Given the description of an element on the screen output the (x, y) to click on. 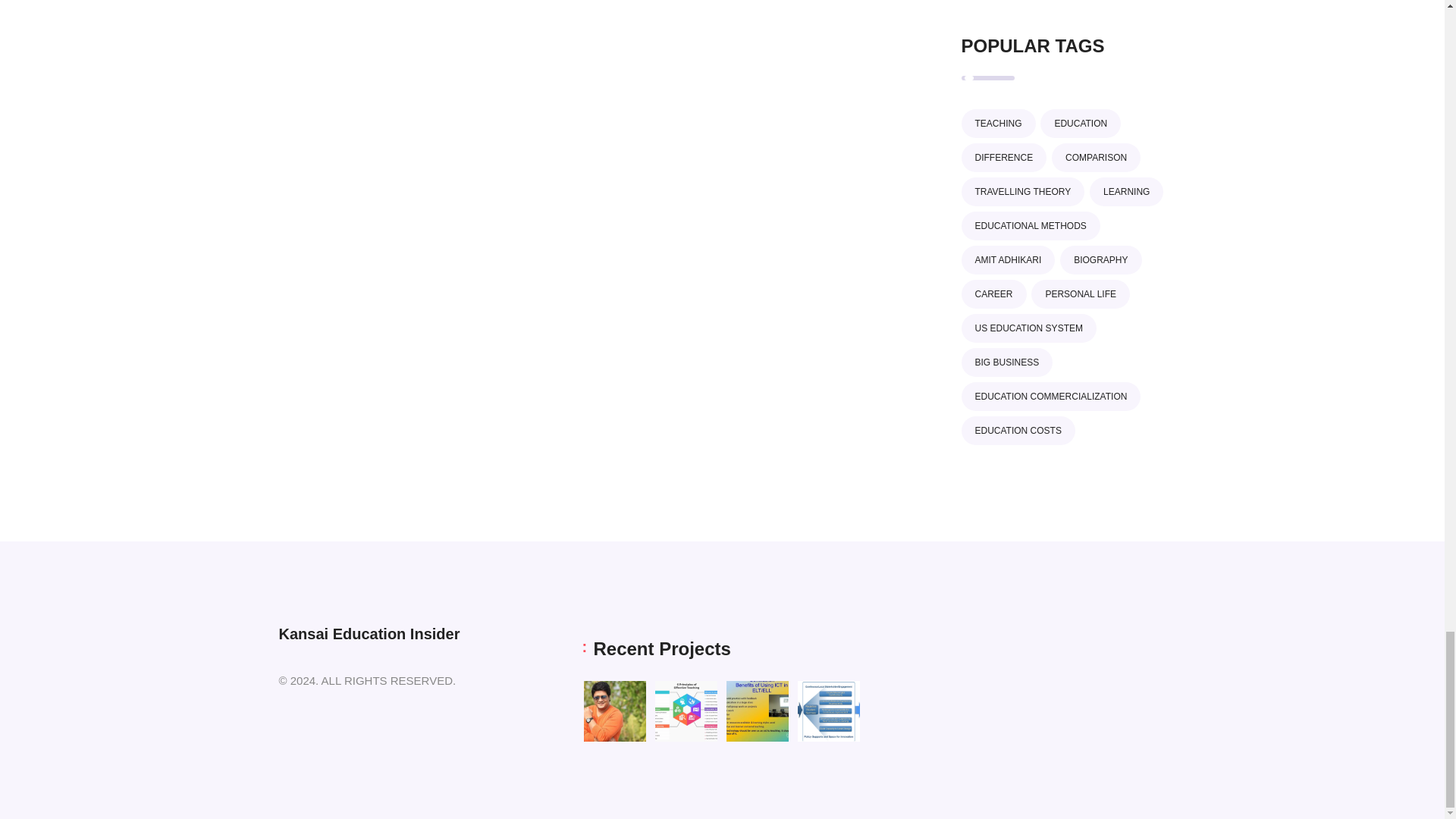
Amit Adhikari? (614, 711)
What is the difference between education and teaching? (686, 711)
Why is the education system in the US a big business? (828, 711)
What is the travelling theory of teaching and learning? (757, 711)
